Given the description of an element on the screen output the (x, y) to click on. 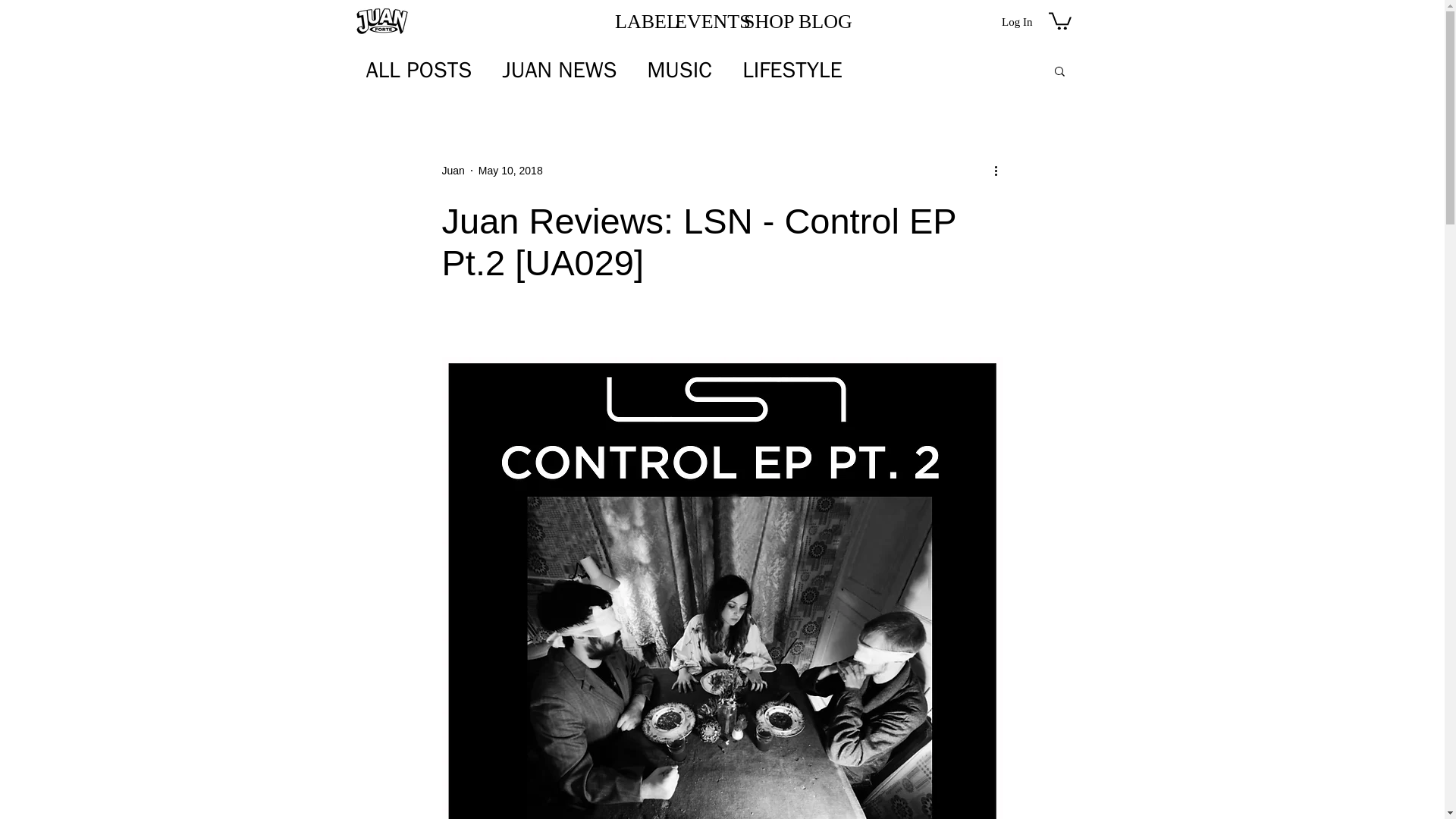
Juan Forte logo (381, 20)
Juan (452, 170)
JUAN NEWS (558, 70)
EVENTS (697, 22)
BLOG (814, 22)
SHOP (759, 22)
May 10, 2018 (511, 170)
ALL POSTS (418, 70)
LABEL (633, 22)
MUSIC (678, 70)
Log In (1016, 21)
Juan (452, 170)
LIFESTYLE (792, 70)
